Given the description of an element on the screen output the (x, y) to click on. 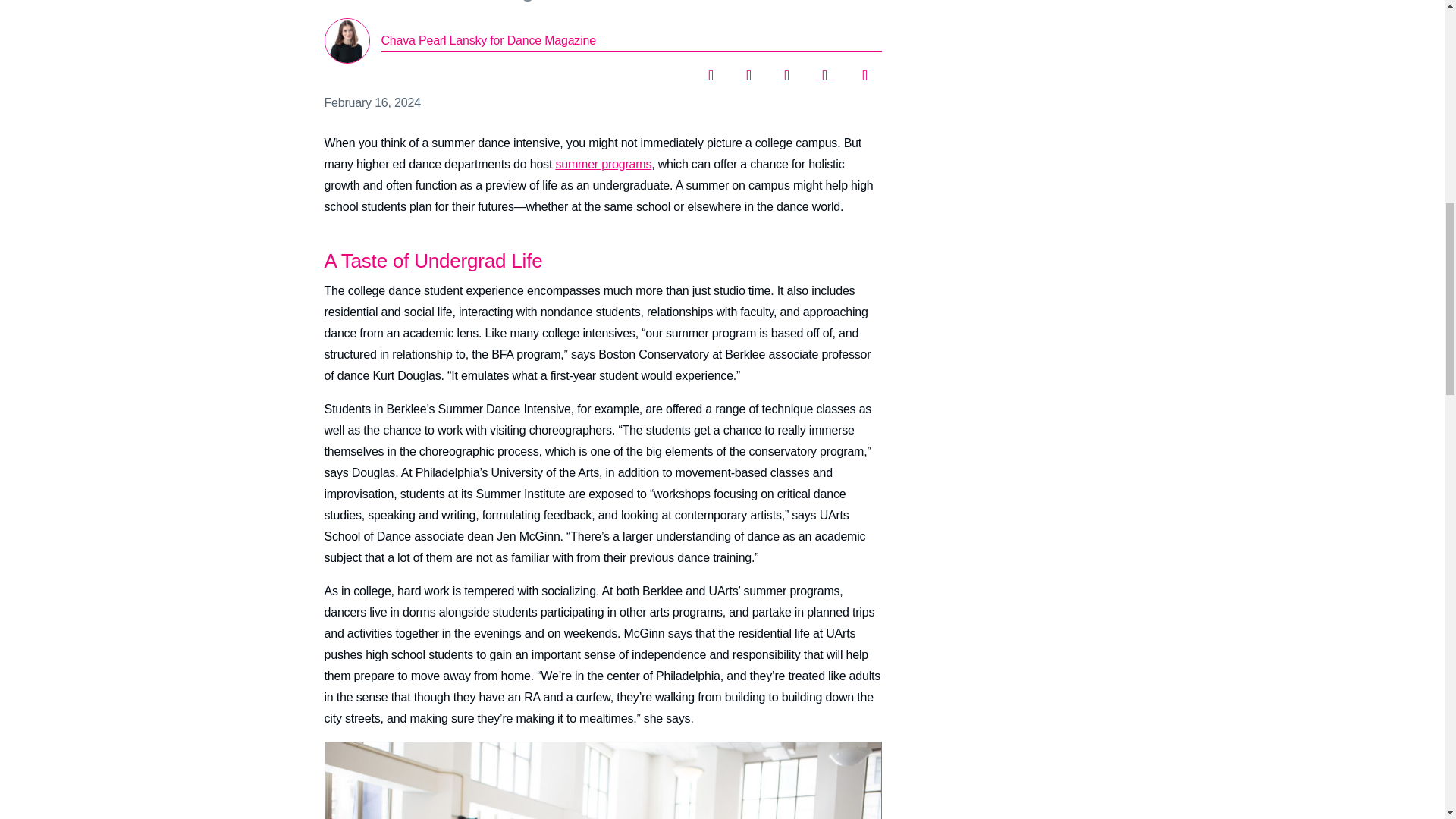
Share on LinkedIn (786, 70)
Share by Email (861, 70)
Share on Pinterest (824, 70)
Share on Facebook (710, 70)
Share on Twitter (748, 70)
